Given the description of an element on the screen output the (x, y) to click on. 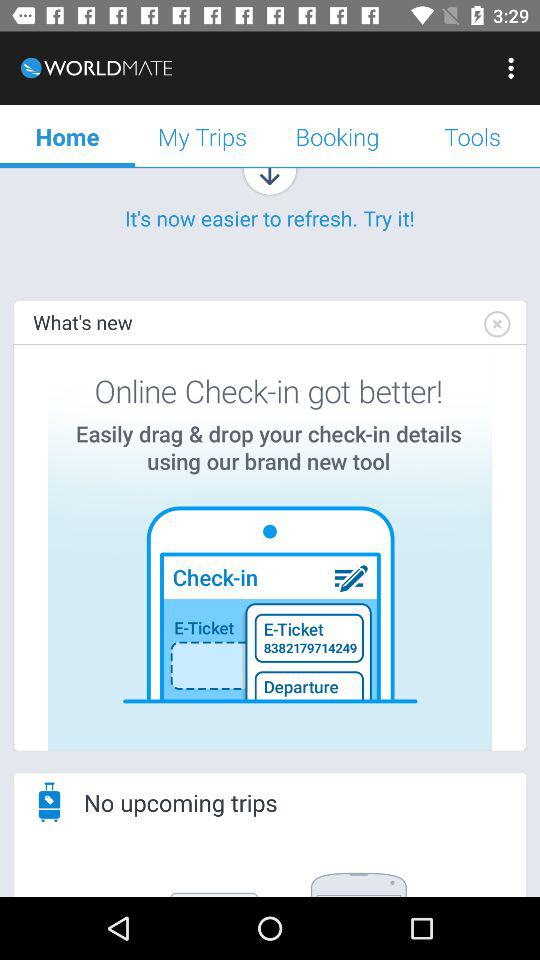
launch item on the right (496, 323)
